Given the description of an element on the screen output the (x, y) to click on. 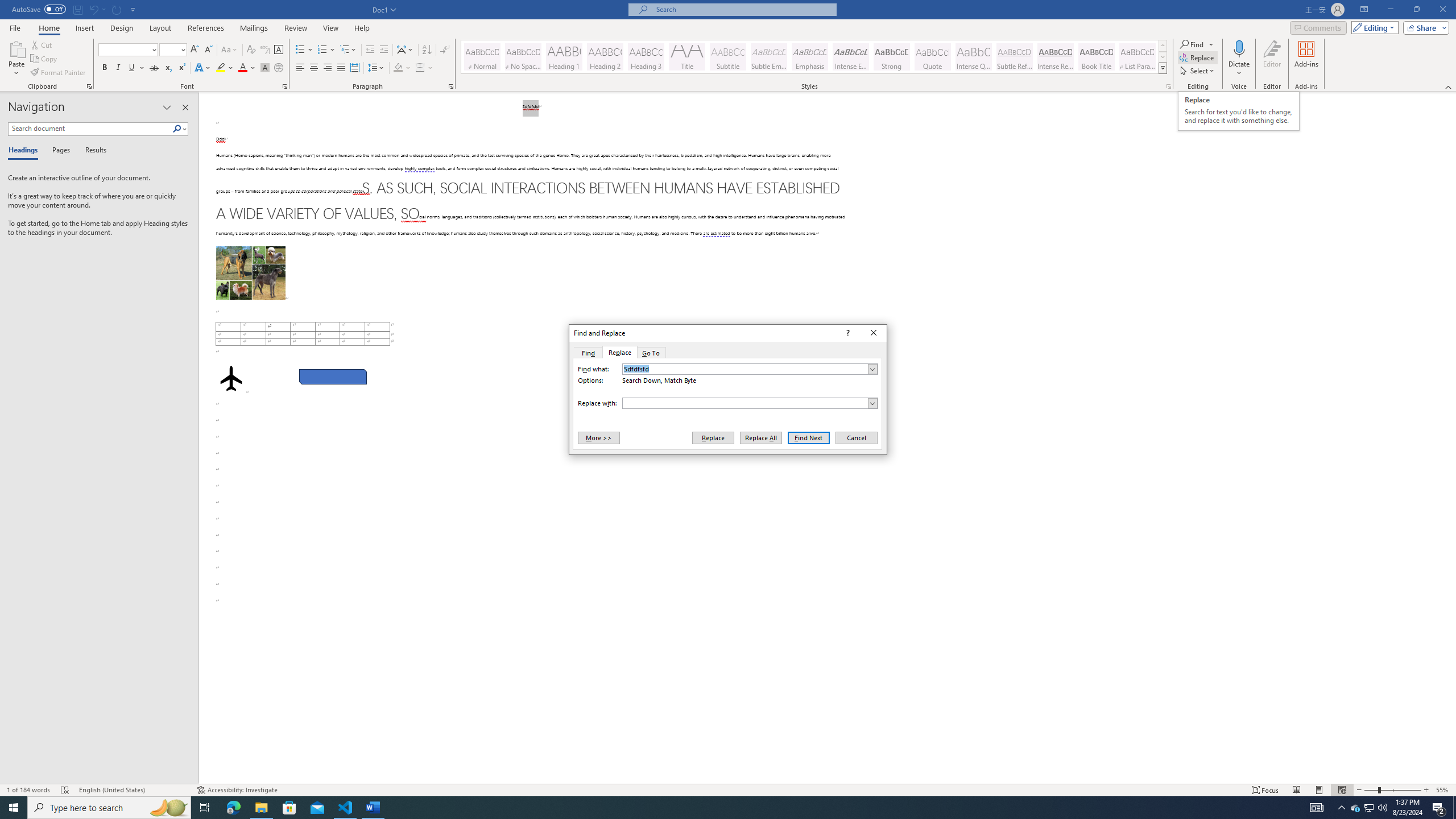
Superscript (180, 67)
Morphological variation in six dogs (250, 272)
Heading 3 (646, 56)
Spelling and Grammar Check Errors (65, 790)
Q2790: 100% (1382, 807)
Office Clipboard... (88, 85)
Subscript (167, 67)
Accessibility Checker Accessibility: Investigate (237, 790)
